Given the description of an element on the screen output the (x, y) to click on. 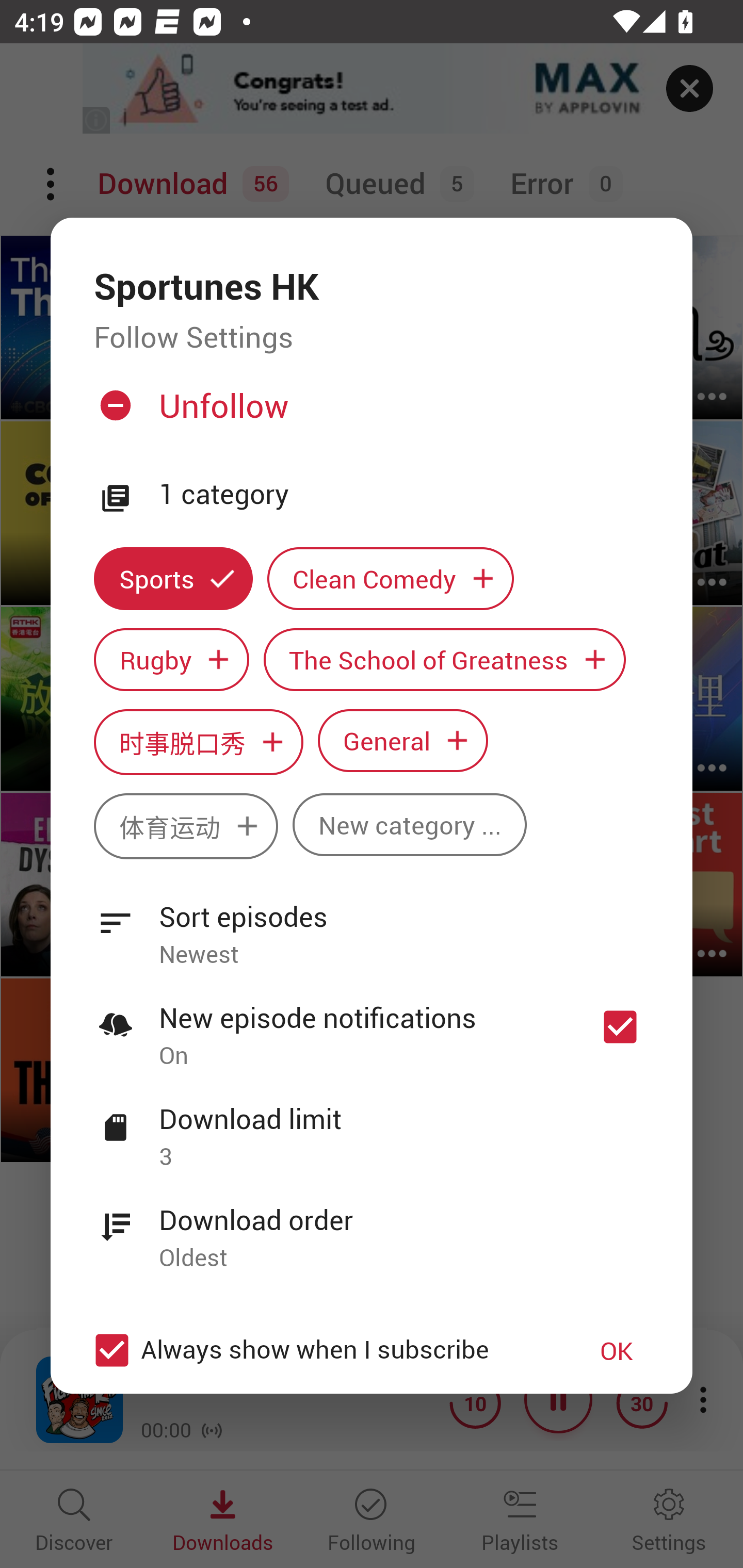
Unfollow (369, 413)
1 category (404, 494)
Sports (172, 578)
Clean Comedy (390, 578)
Rugby (170, 659)
The School of Greatness (444, 659)
时事脱口秀 (198, 741)
General (403, 739)
体育运动 (185, 826)
New category ... (409, 824)
Sort episodes Newest (371, 924)
New episode notifications (620, 1026)
Download limit 3 (371, 1126)
Download order Oldest (371, 1227)
OK (616, 1350)
Always show when I subscribe (320, 1350)
